Given the description of an element on the screen output the (x, y) to click on. 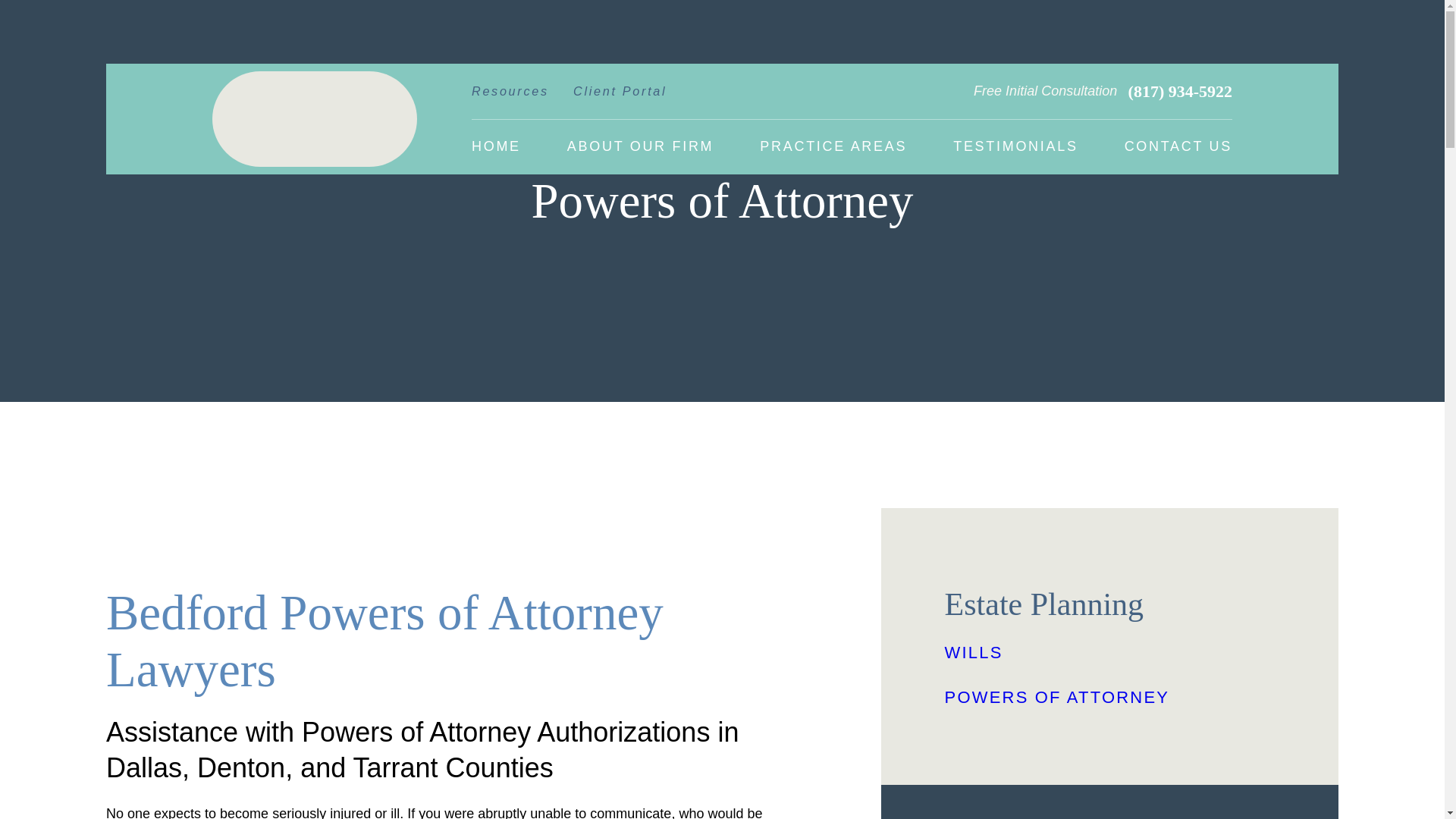
CONTACT US (1177, 146)
Resources (509, 96)
WILLS (1109, 653)
HOME (496, 146)
PRACTICE AREAS (833, 146)
Open the accessibility options menu (20, 798)
ABOUT OUR FIRM (640, 146)
Client Portal (619, 96)
TESTIMONIALS (1015, 146)
POWERS OF ATTORNEY (1109, 698)
